Given the description of an element on the screen output the (x, y) to click on. 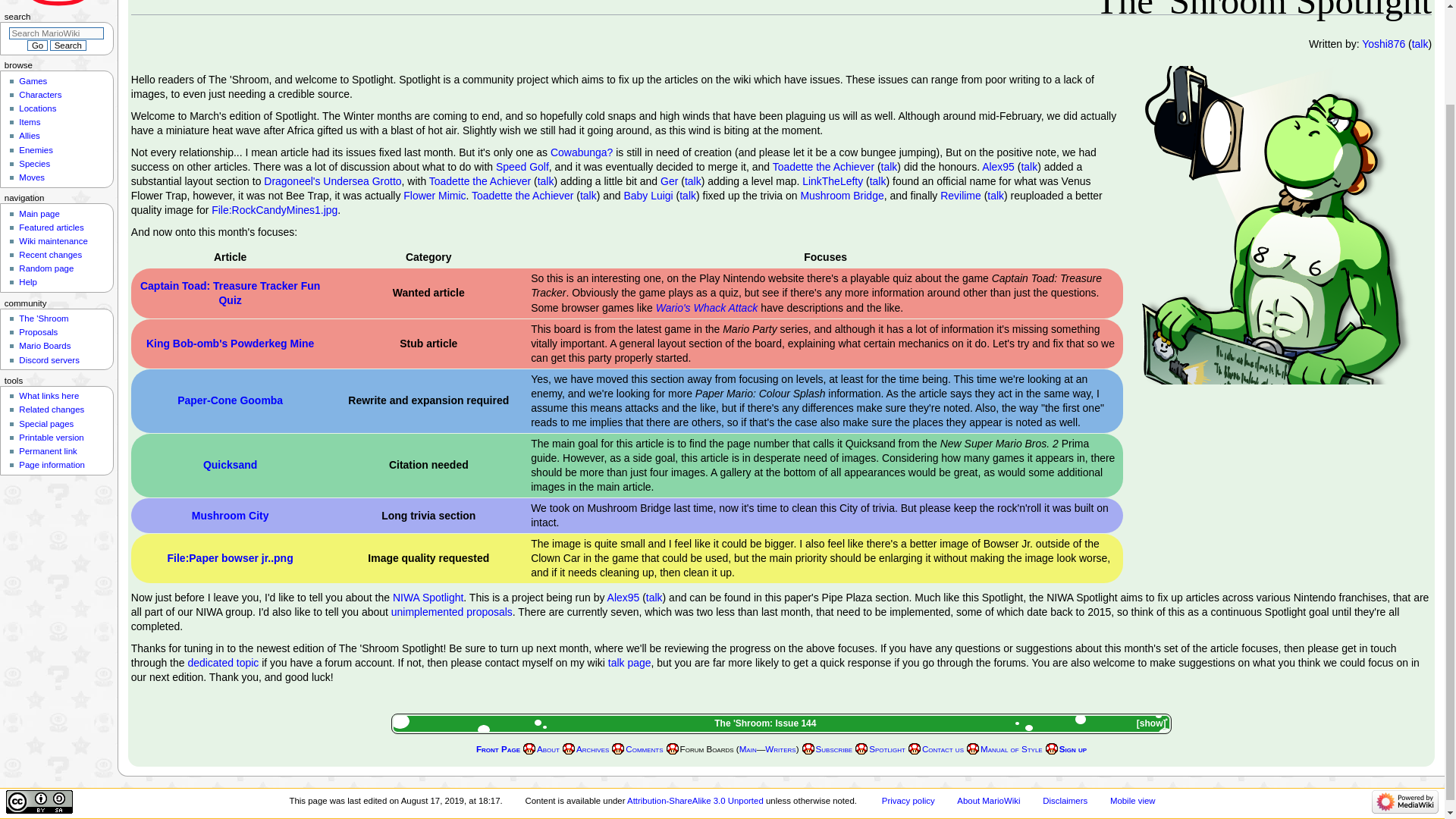
Go (36, 45)
talk (1028, 166)
Wanted article (428, 292)
Mushroom City (230, 515)
talk (877, 181)
Quicksand (230, 464)
Flower Mimic (434, 195)
Cowabunga? (581, 152)
User talk:Alex95 (1028, 166)
Paper-Cone Goomba (229, 399)
